Given the description of an element on the screen output the (x, y) to click on. 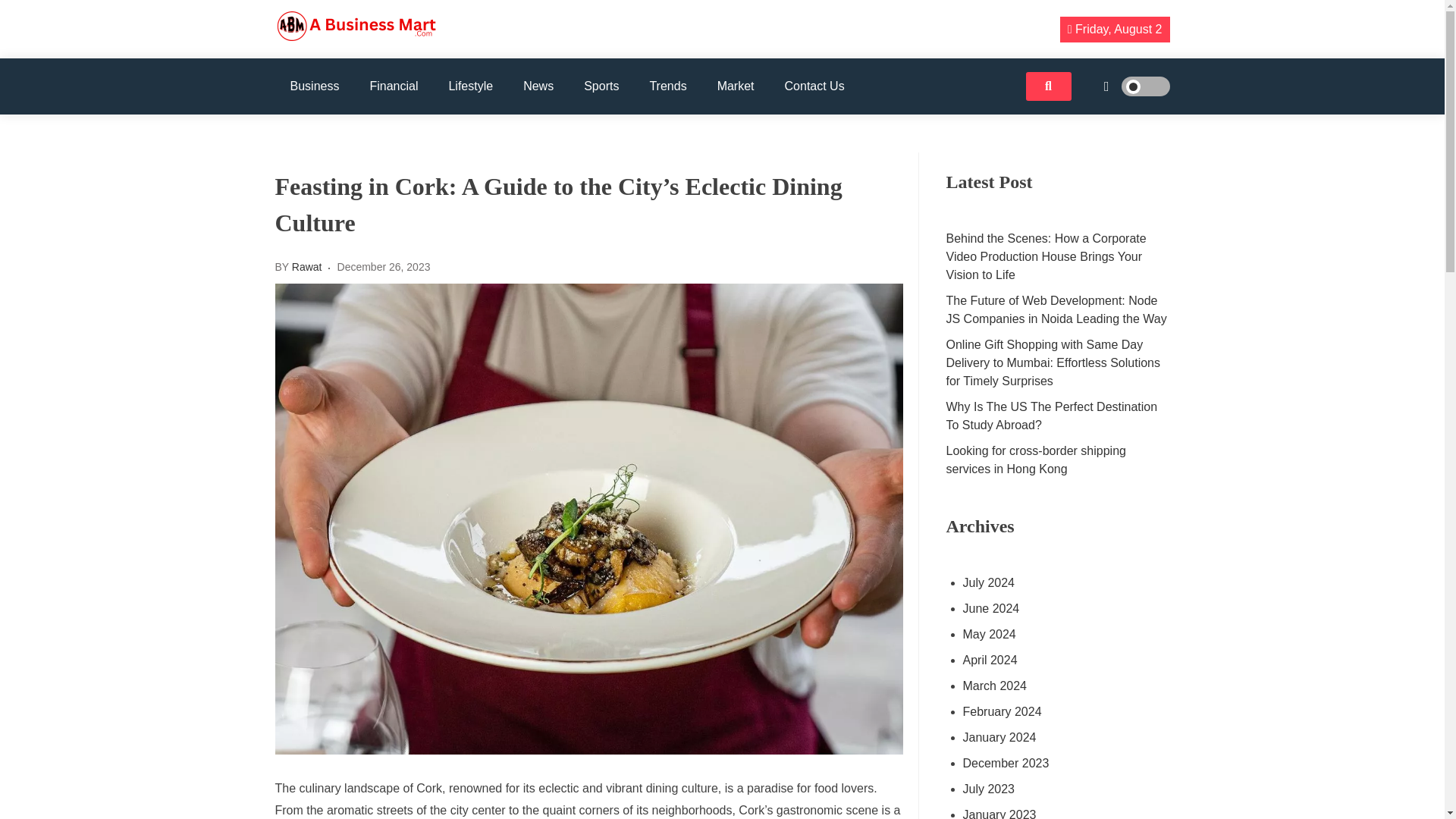
April 2024 (1057, 660)
Lifestyle (470, 86)
Financial (392, 86)
Contact Us (815, 86)
A Business Mart (357, 62)
Looking for cross-border shipping services in Hong Kong (1058, 460)
December 26, 2023 (383, 266)
Why Is The US The Perfect Destination To Study Abroad? (1058, 415)
